Given the description of an element on the screen output the (x, y) to click on. 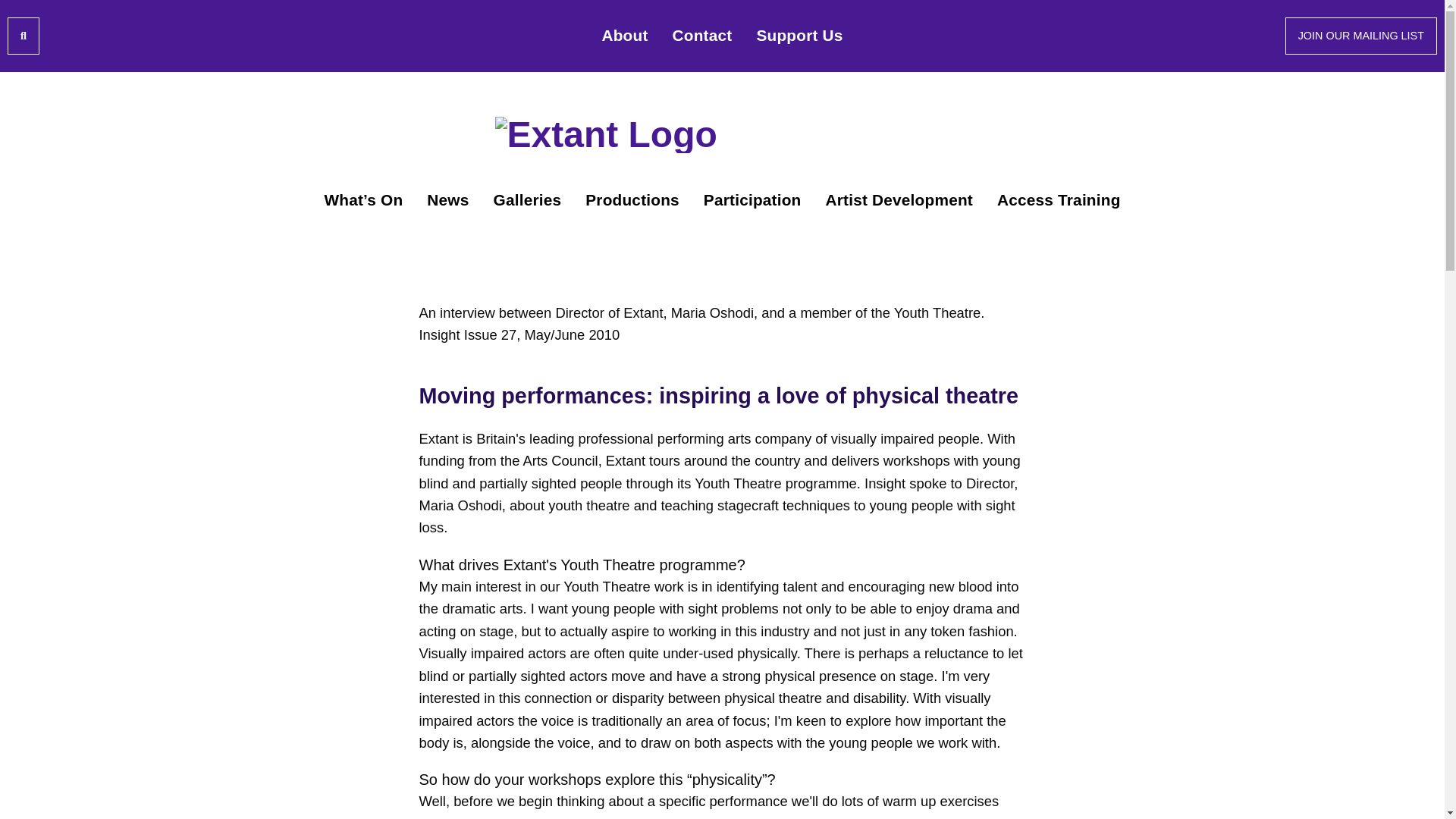
Contact (702, 35)
Galleries (526, 199)
homepage (722, 133)
About (624, 35)
EXTANT (722, 133)
Support Us (799, 35)
Access Training (1058, 199)
JOIN OUR MAILING LIST (1361, 35)
Artist Development (899, 199)
News (447, 199)
Productions (632, 199)
Participation (752, 199)
